Given the description of an element on the screen output the (x, y) to click on. 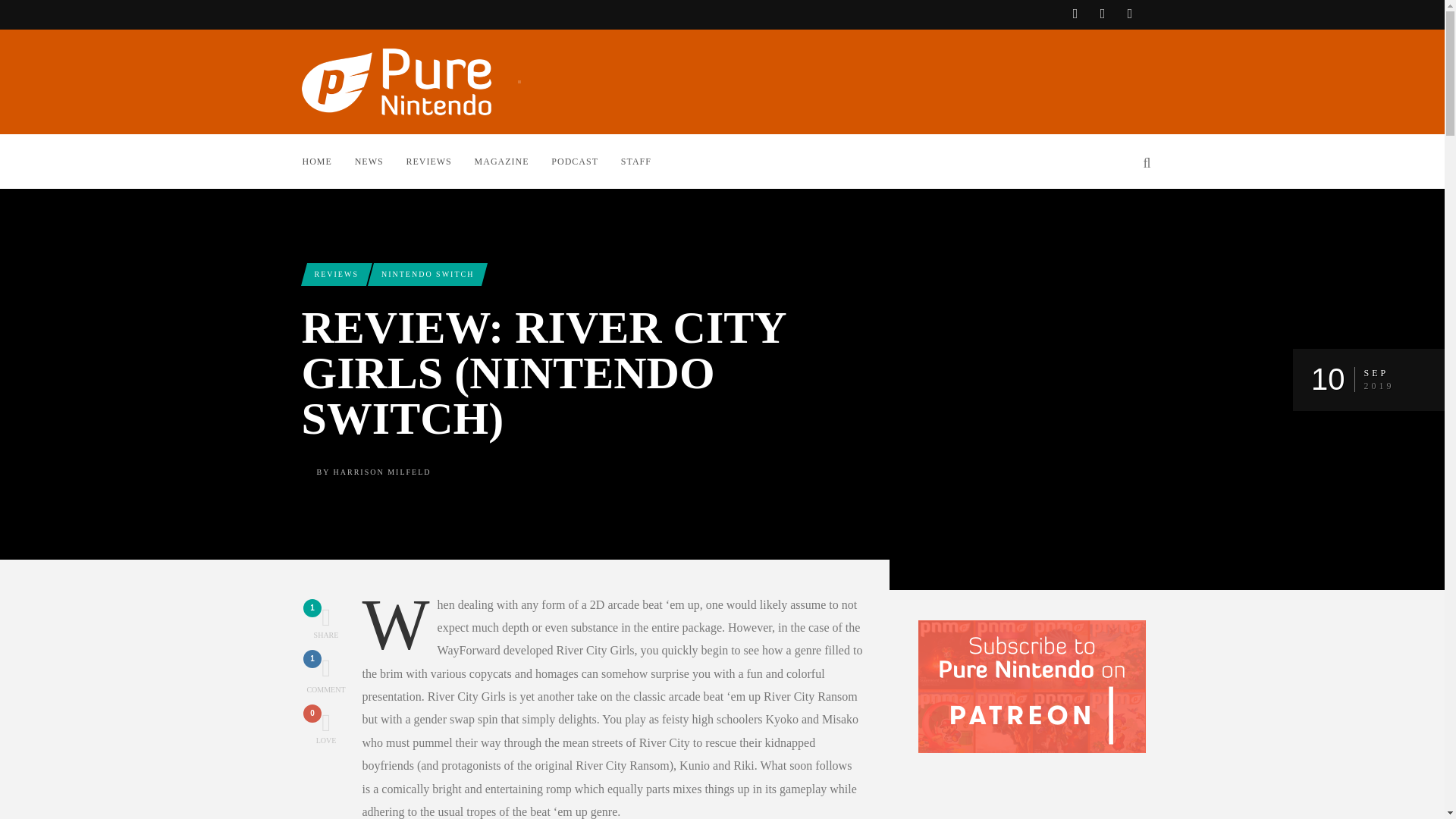
REVIEWS (335, 273)
STAFF (646, 160)
REVIEWS (439, 160)
More Reviews Posts (335, 273)
PODCAST (585, 160)
HARRISON MILFELD (381, 470)
NINTENDO SWITCH (325, 622)
NEWS (427, 273)
Posts by Harrison Milfeld (380, 160)
